Given the description of an element on the screen output the (x, y) to click on. 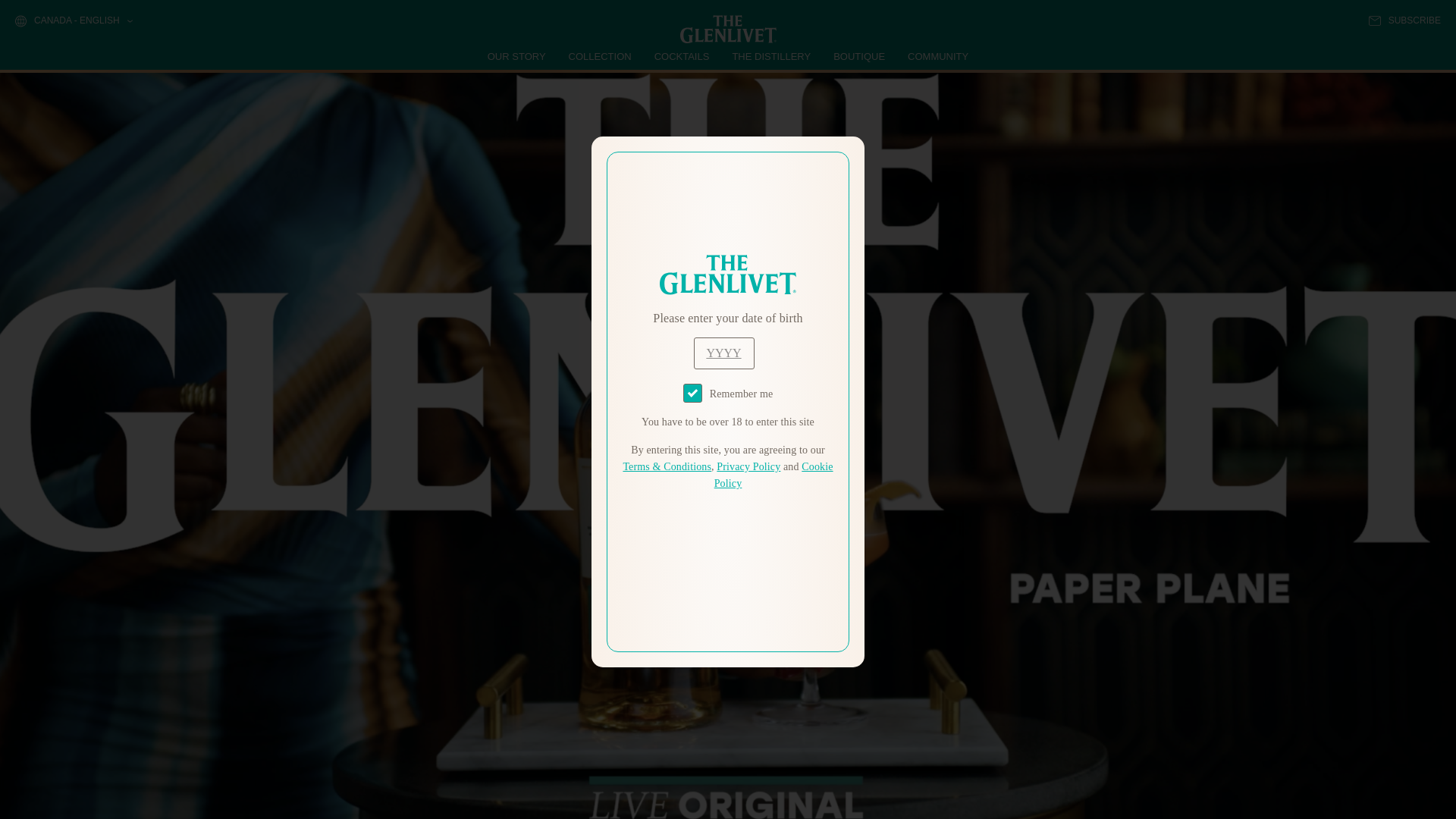
BOUTIQUE (858, 56)
COMMUNITY (937, 56)
SUBSCRIBE (1404, 20)
COCKTAILS (681, 56)
THE DISTILLERY (771, 56)
Privacy Policy (748, 466)
OUR STORY (516, 56)
COLLECTION (600, 56)
CANADA - ENGLISH (73, 21)
Cookie Policy (773, 474)
